Given the description of an element on the screen output the (x, y) to click on. 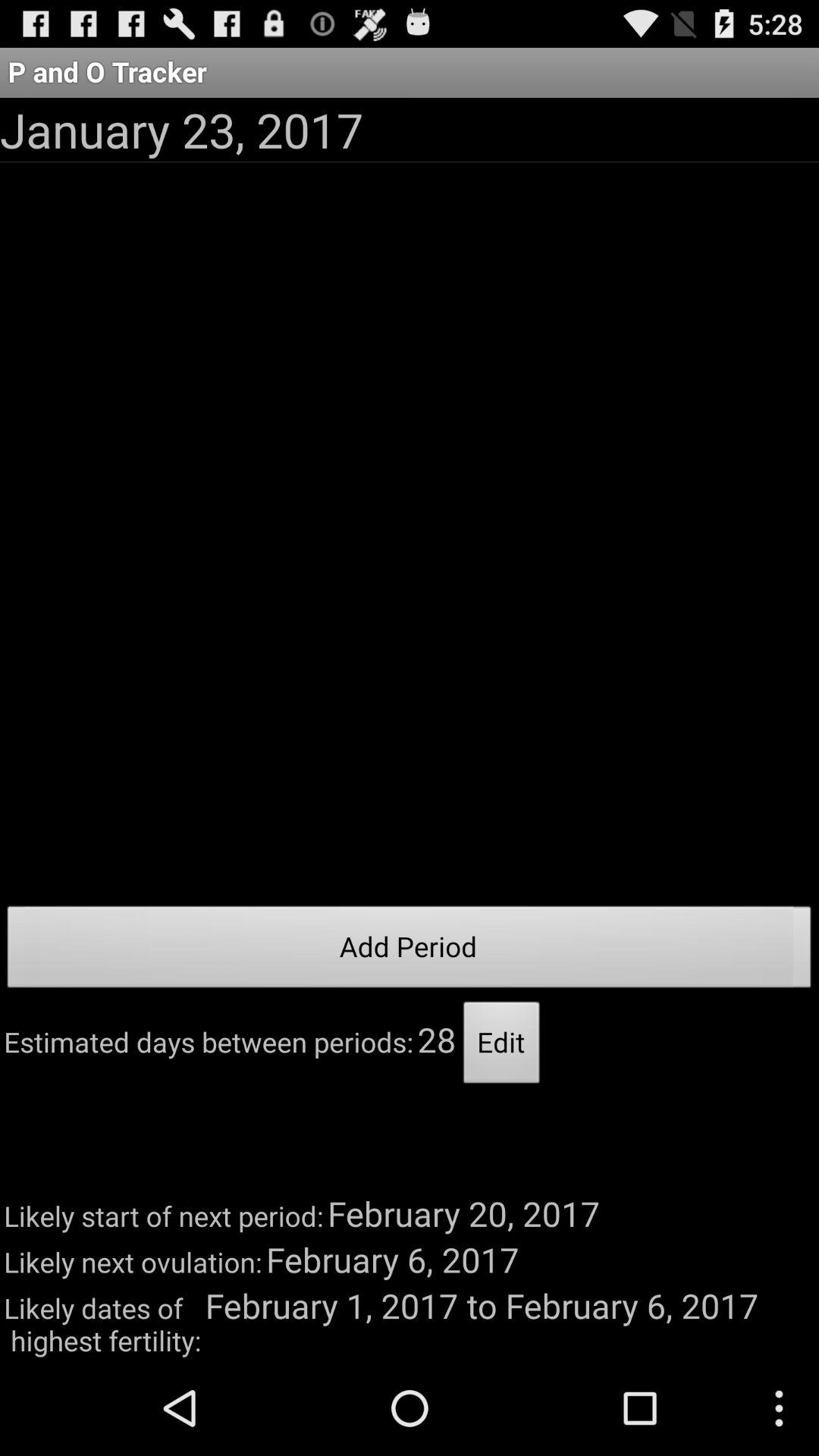
press the edit button (501, 1046)
